Given the description of an element on the screen output the (x, y) to click on. 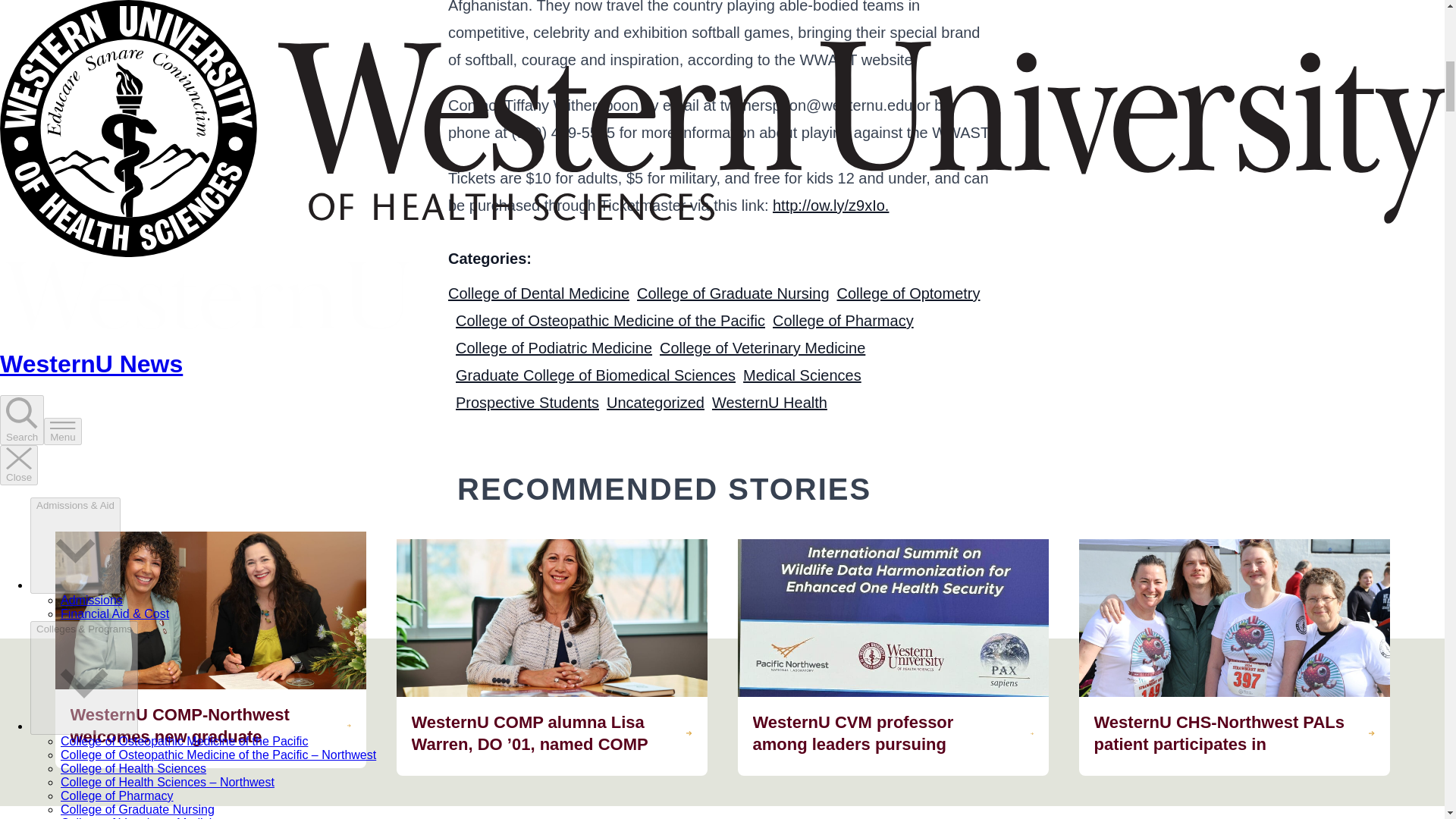
Graduate College of Biomedical Sciences (595, 375)
Medical Sciences (801, 375)
College of Veterinary Medicine (761, 347)
College of Osteopathic Medicine of the Pacific (610, 320)
College of Pharmacy (843, 320)
WesternU Health (769, 402)
College of Dental Medicine (538, 293)
Uncategorized (655, 402)
College of Podiatric Medicine (553, 347)
Prospective Students (526, 402)
College of Graduate Nursing (732, 293)
College of Optometry (908, 293)
